Given the description of an element on the screen output the (x, y) to click on. 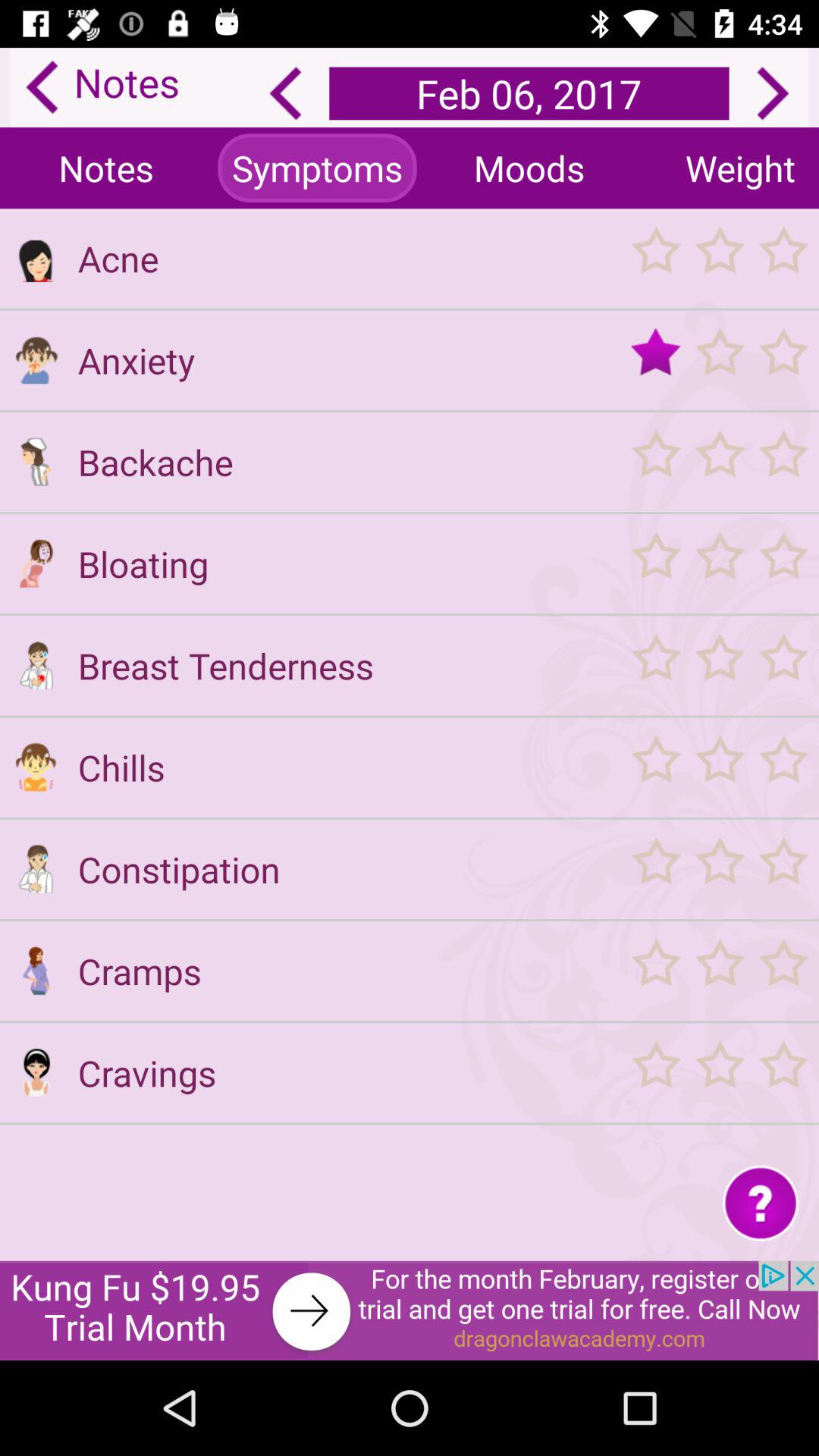
constipation opption (35, 868)
